Given the description of an element on the screen output the (x, y) to click on. 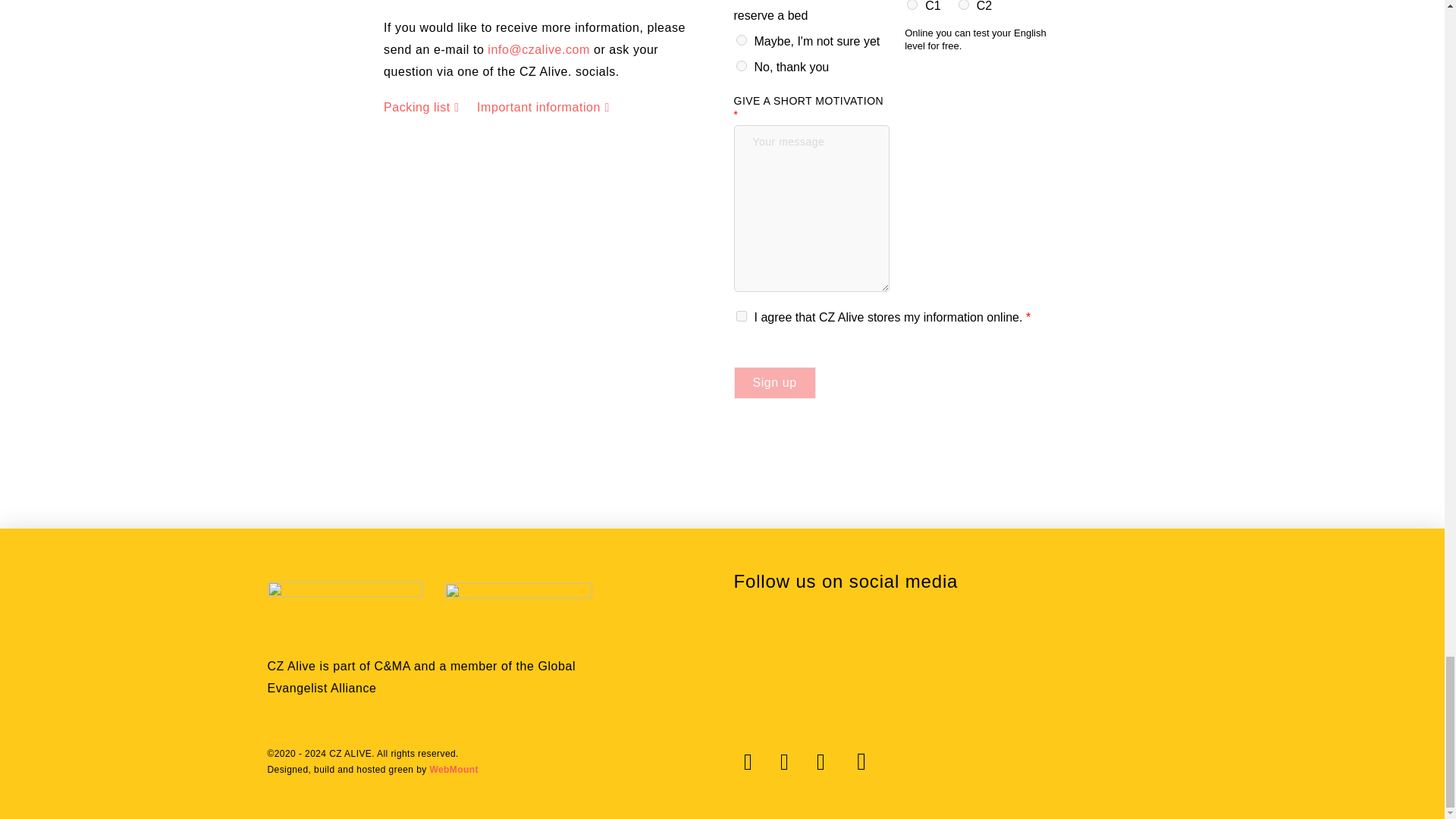
Packing list (421, 107)
C2 (963, 4)
Sign up (774, 382)
Important information (542, 107)
No, thank you (740, 65)
I agree that CZ Alive stores my information online. (740, 316)
C1 (912, 4)
Maybe, I'm not sure yet (740, 40)
WebMount (453, 769)
